Given the description of an element on the screen output the (x, y) to click on. 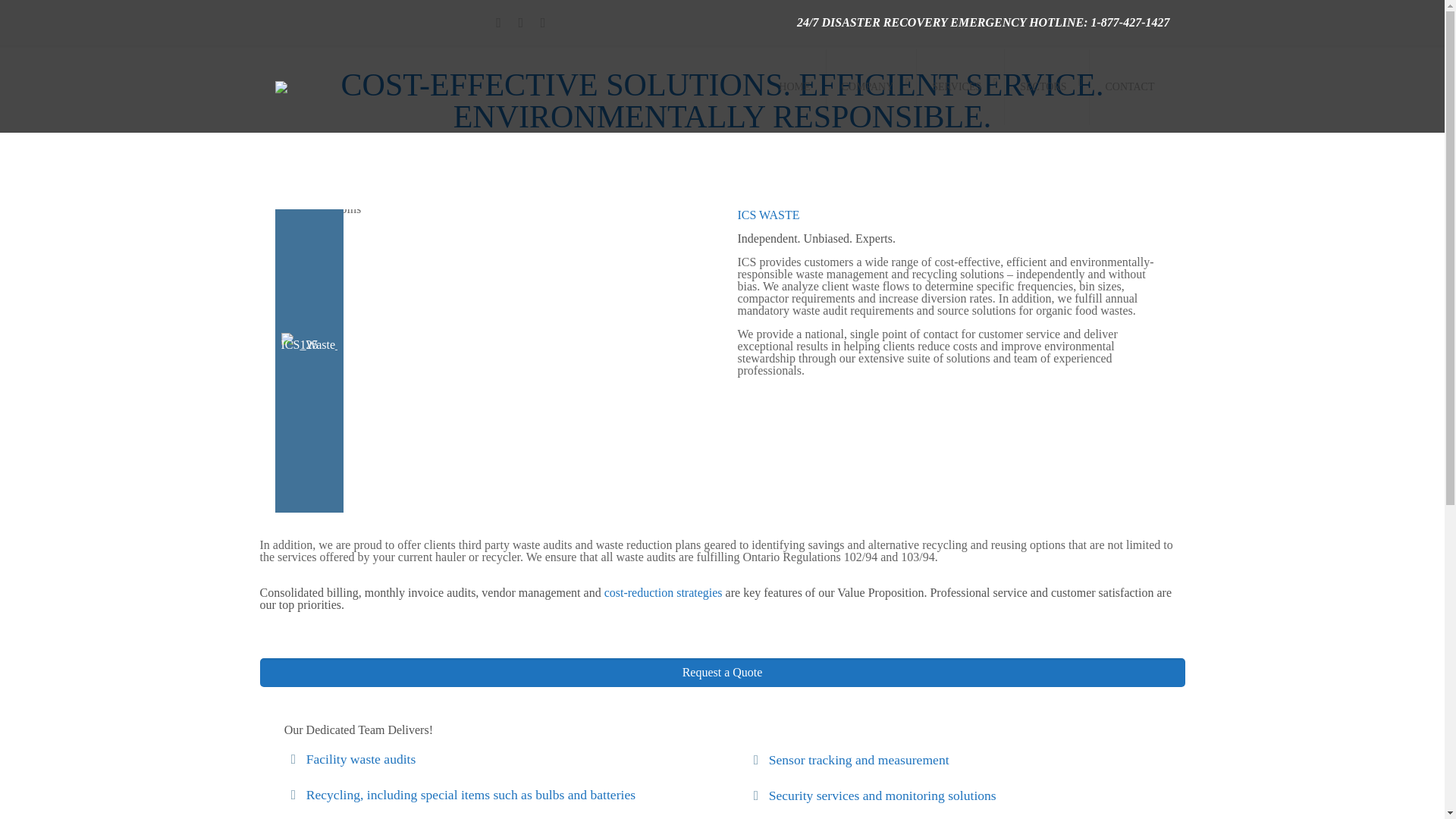
SERVICES (960, 86)
SECTORS (1046, 86)
COMPANY (872, 86)
